Given the description of an element on the screen output the (x, y) to click on. 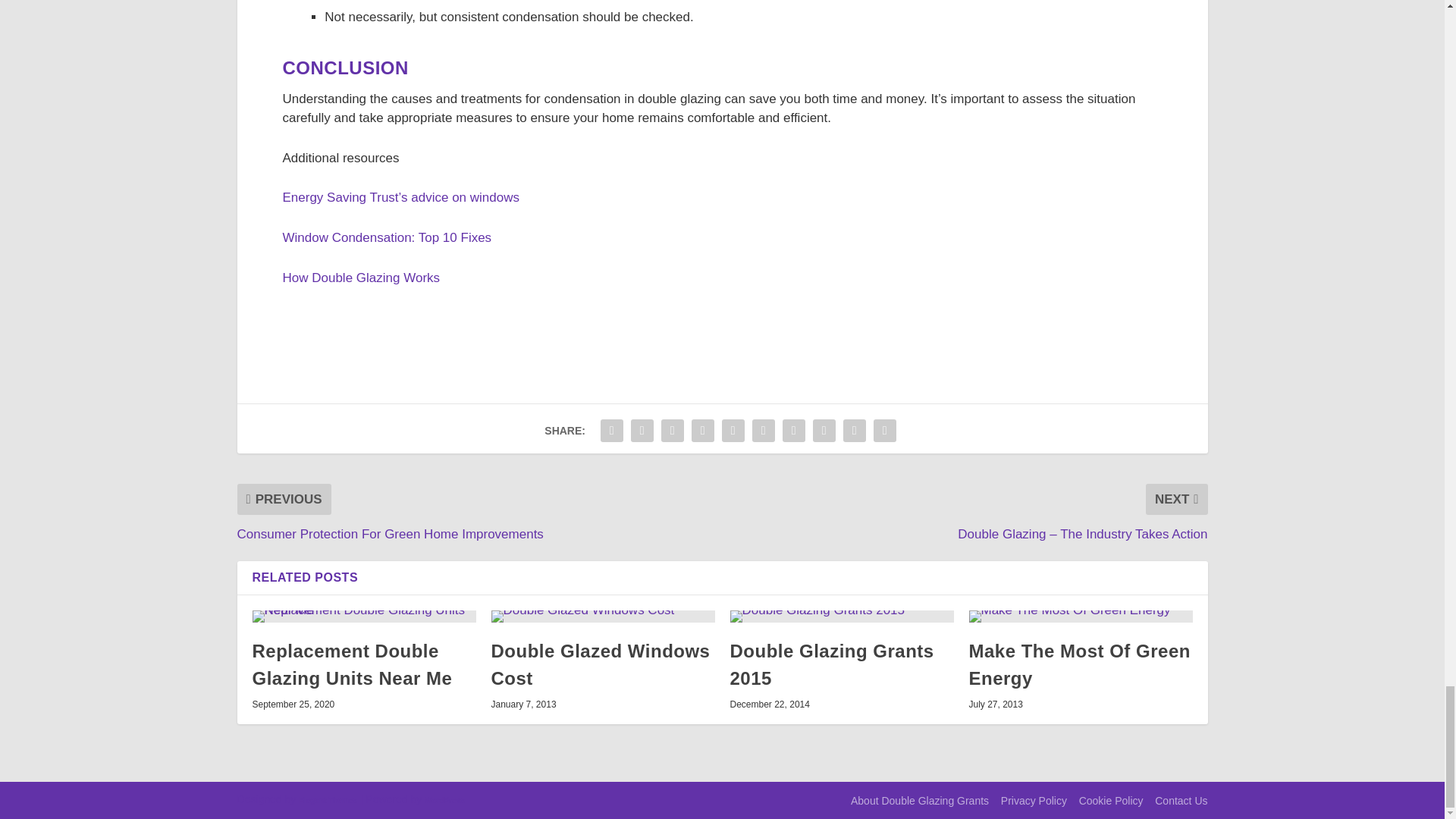
How Double Glazing Works (360, 278)
Window Condensation: Top 10 Fixes (387, 237)
Share "Condensation in Double Glazing" via LinkedIn (763, 430)
Share "Condensation in Double Glazing" via Print (884, 430)
Double Glazed Windows Cost (603, 616)
Share "Condensation in Double Glazing" via Pinterest (732, 430)
Share "Condensation in Double Glazing" via Facebook (611, 430)
Share "Condensation in Double Glazing" via Twitter (642, 430)
Share "Condensation in Double Glazing" via Email (854, 430)
Double Glazed Windows Cost (601, 664)
Replacement Double Glazing Units Near Me (351, 664)
Replacement Double Glazing Units Near Me (363, 616)
Share "Condensation in Double Glazing" via Buffer (793, 430)
Share "Condensation in Double Glazing" via Stumbleupon (824, 430)
Share "Condensation in Double Glazing" via Tumblr (702, 430)
